Given the description of an element on the screen output the (x, y) to click on. 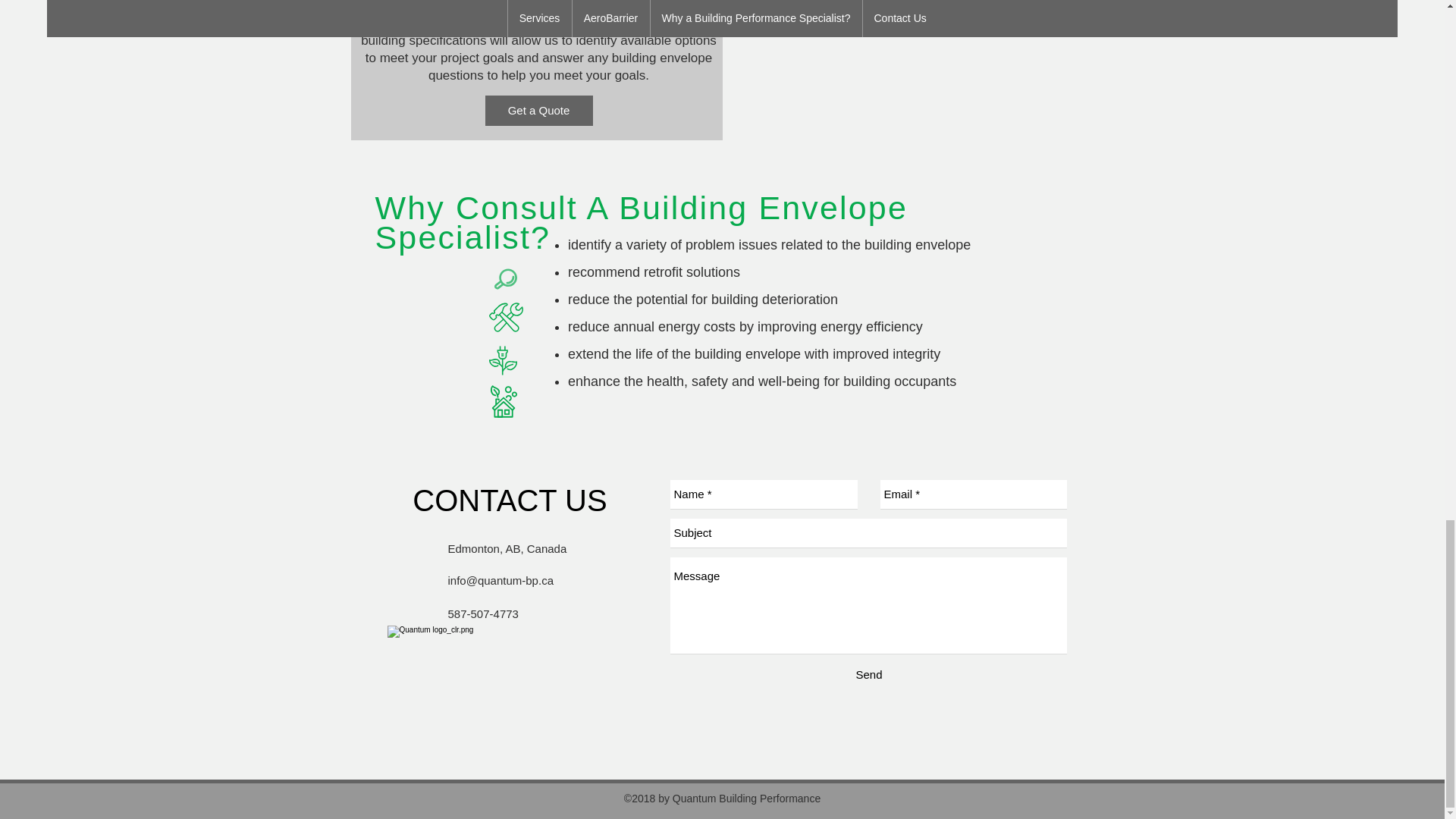
Get a Quote (538, 110)
587-507-4773 (482, 613)
Send (869, 674)
